Given the description of an element on the screen output the (x, y) to click on. 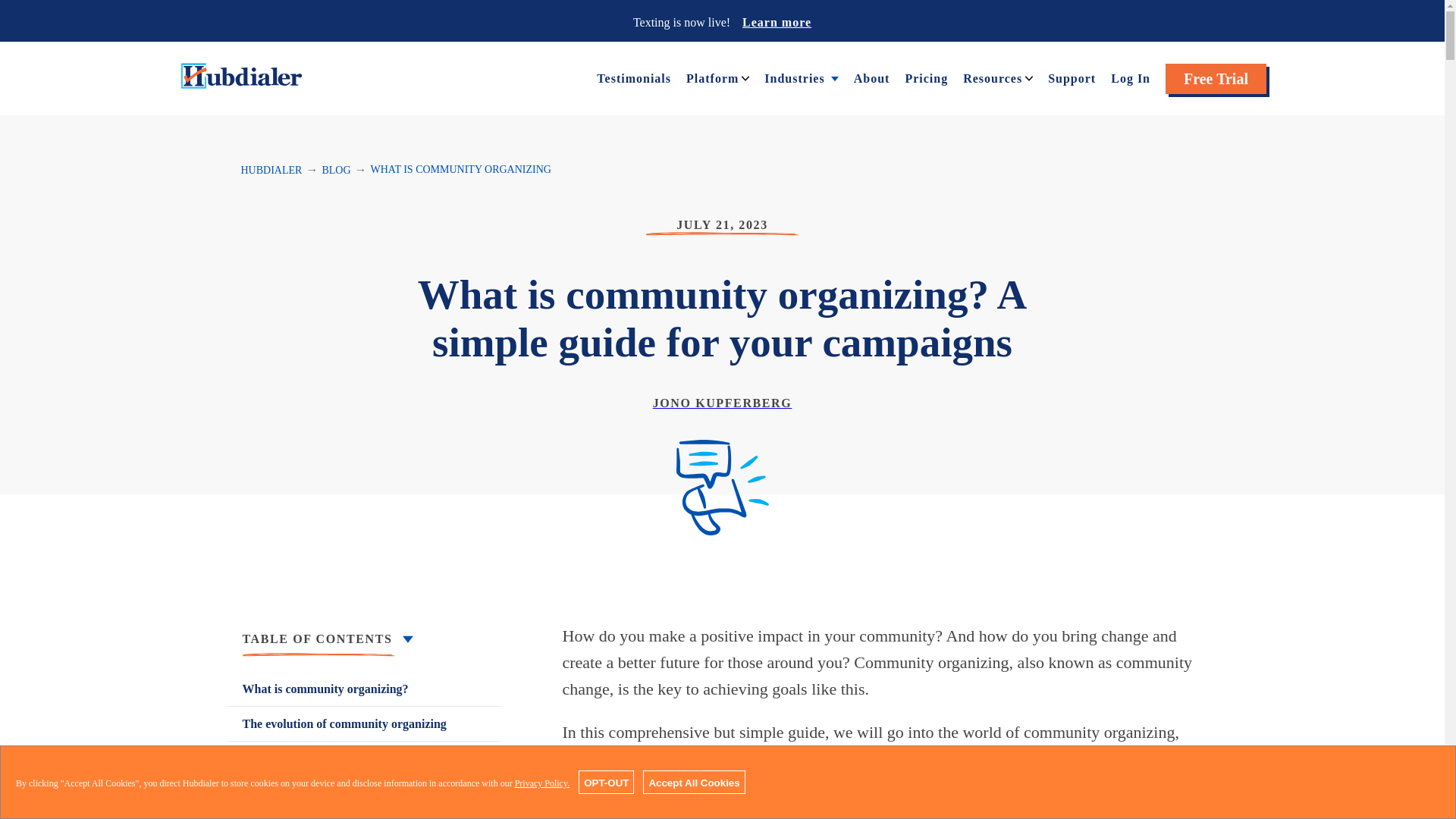
About (871, 77)
WHAT IS COMMUNITY ORGANIZING (461, 169)
What is community organizing? (363, 688)
BLOG (335, 170)
The evolution of community organizing (363, 723)
Log In (1130, 77)
Free Trial (1216, 78)
Pricing (925, 77)
Platform (711, 77)
Industries (794, 77)
Privacy Policy. (542, 783)
Accept All Cookies (693, 781)
Support (1072, 77)
Resources (992, 77)
